Given the description of an element on the screen output the (x, y) to click on. 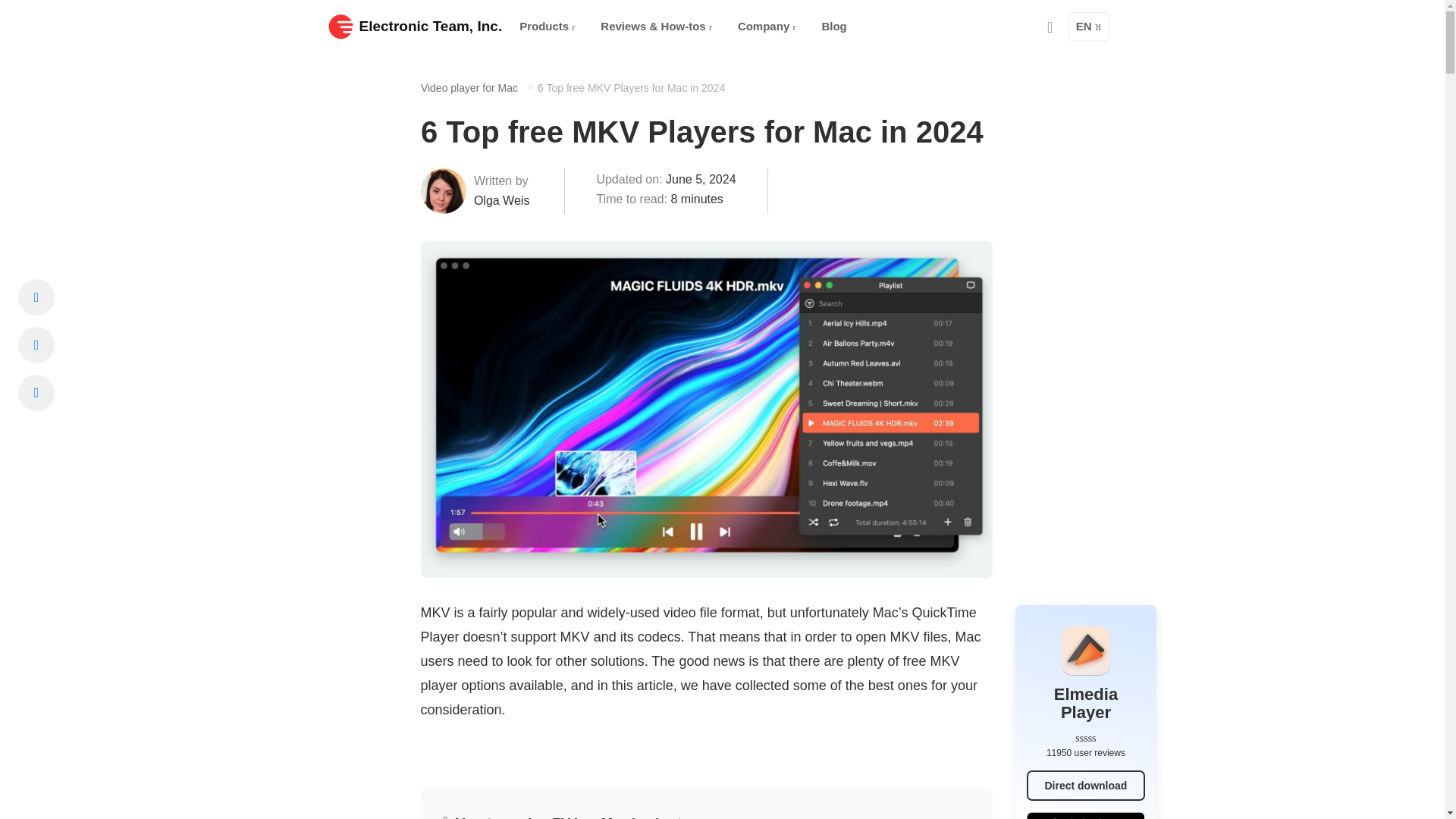
Products (547, 26)
Electronic Team, Inc. (414, 25)
Blog (834, 26)
Company (767, 26)
EN (1088, 26)
Blog (834, 26)
